Given the description of an element on the screen output the (x, y) to click on. 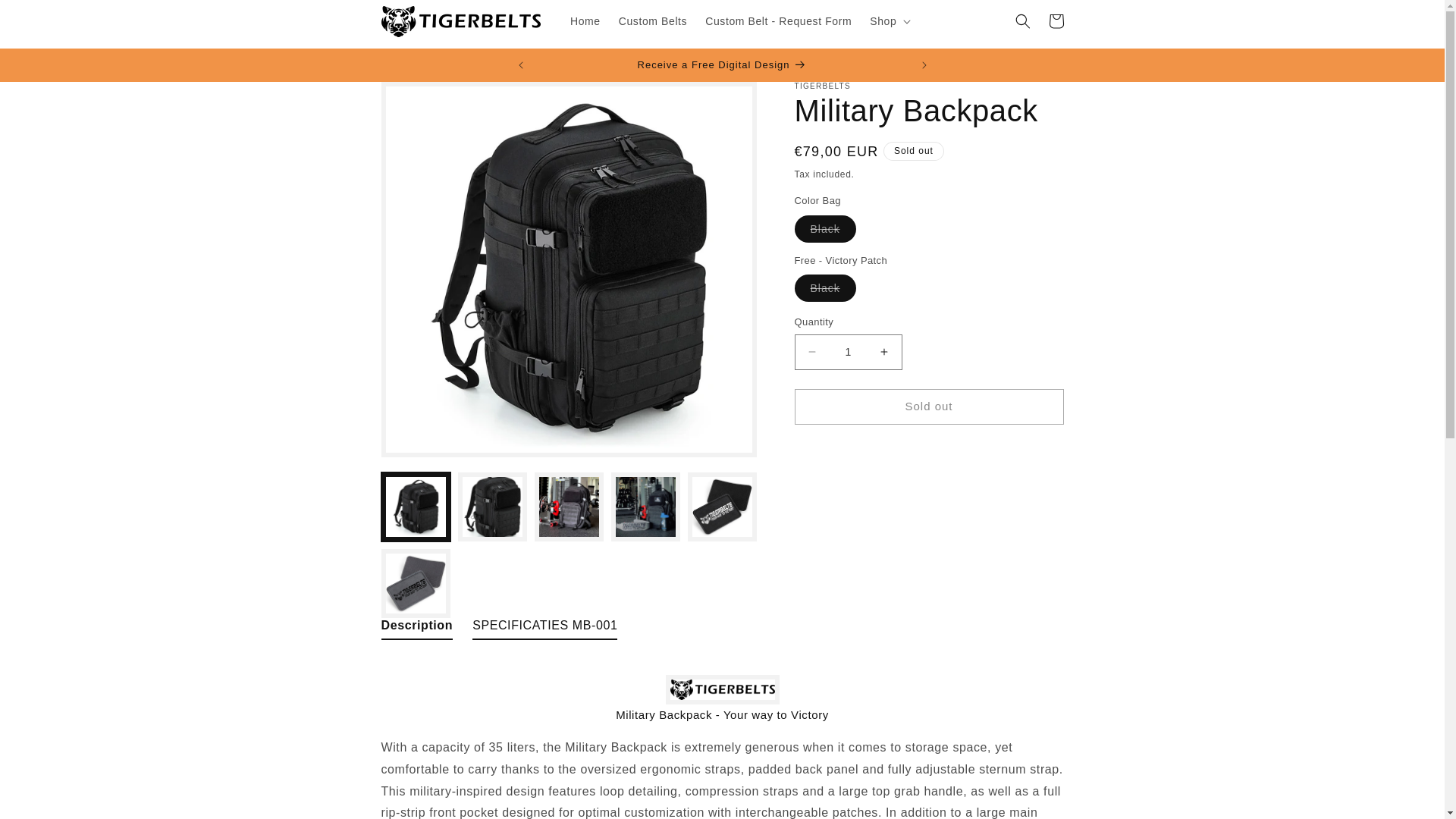
Custom Belts (652, 20)
1 (848, 352)
Cart (1055, 20)
Custom Belt - Request Form (777, 20)
Skip to product information (426, 99)
Home (585, 20)
Skip to content (45, 17)
Receive a Free Digital Design (722, 65)
